Given the description of an element on the screen output the (x, y) to click on. 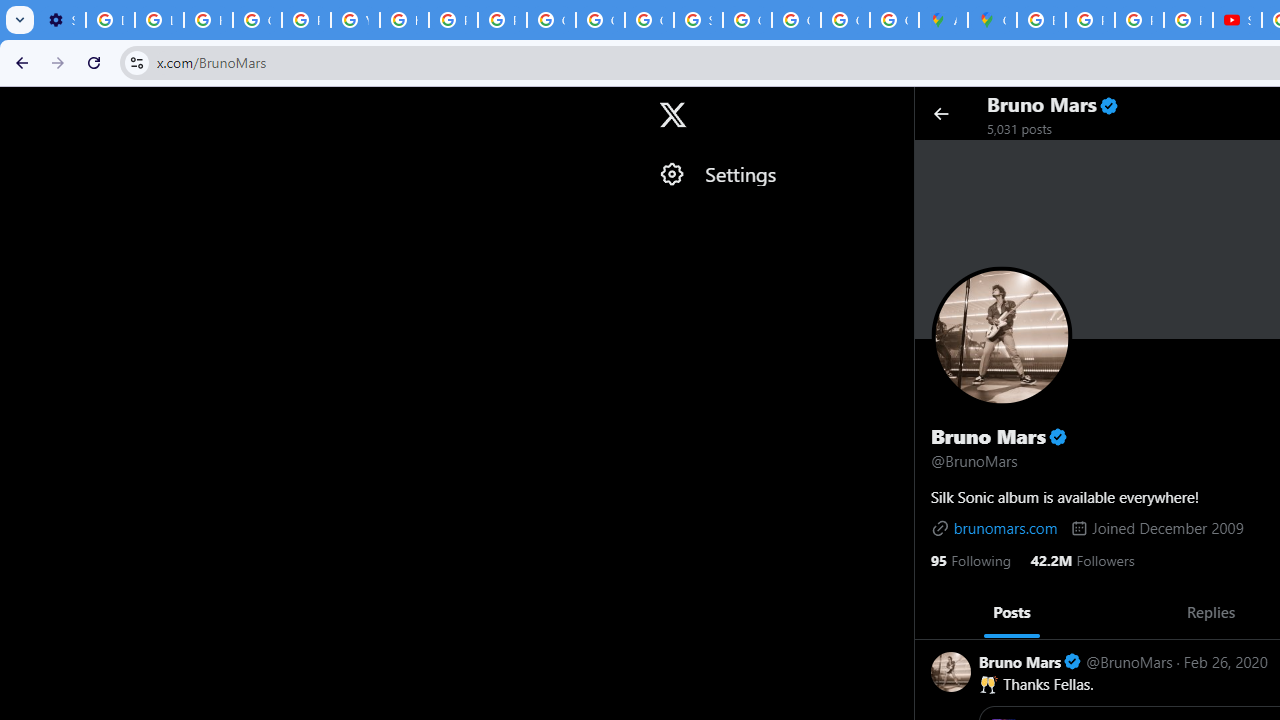
Opens profile photo (1002, 336)
Google Account Help (257, 20)
Skip to trending (17, 105)
